Given the description of an element on the screen output the (x, y) to click on. 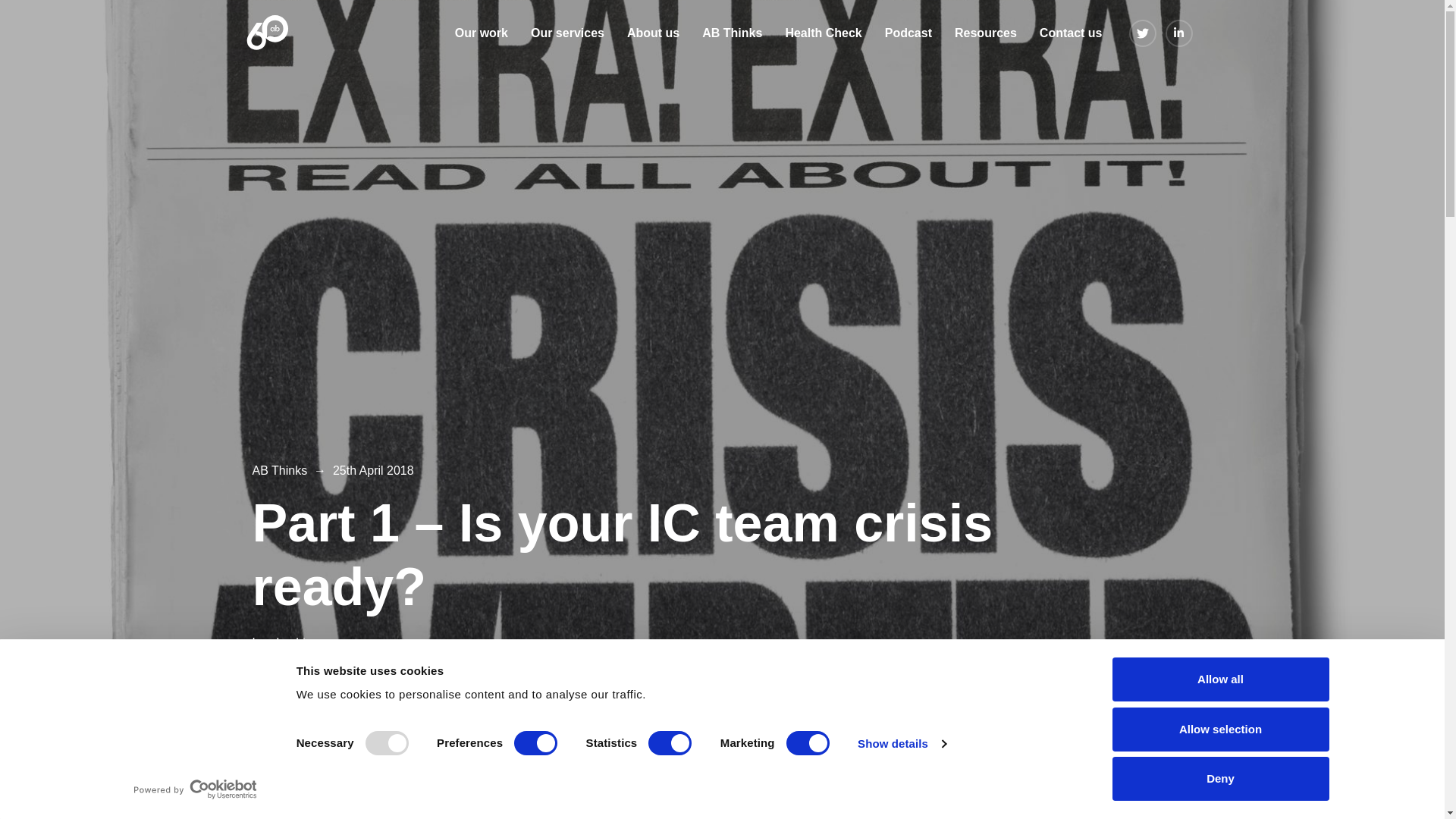
Show details (900, 743)
